Given the description of an element on the screen output the (x, y) to click on. 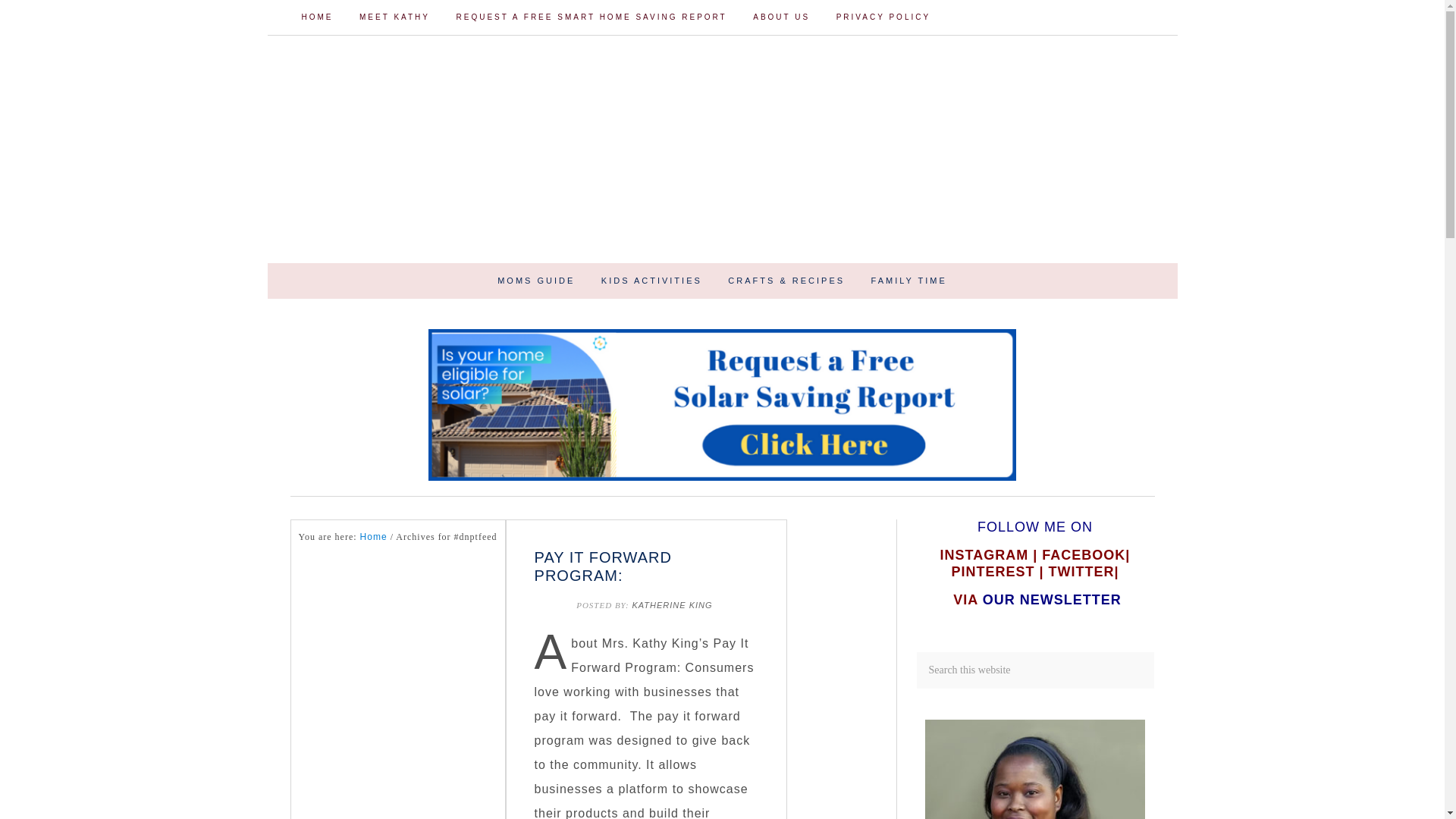
HOME (316, 17)
KIDS ACTIVITIES (651, 280)
MEET KATHY (394, 17)
KATHERINE KING (673, 604)
PRIVACY POLICY (883, 17)
PAY IT FORWARD PROGRAM: (602, 565)
Home (373, 536)
ABOUT US (781, 17)
REQUEST A FREE SMART HOME SAVING REPORT (591, 17)
